Given the description of an element on the screen output the (x, y) to click on. 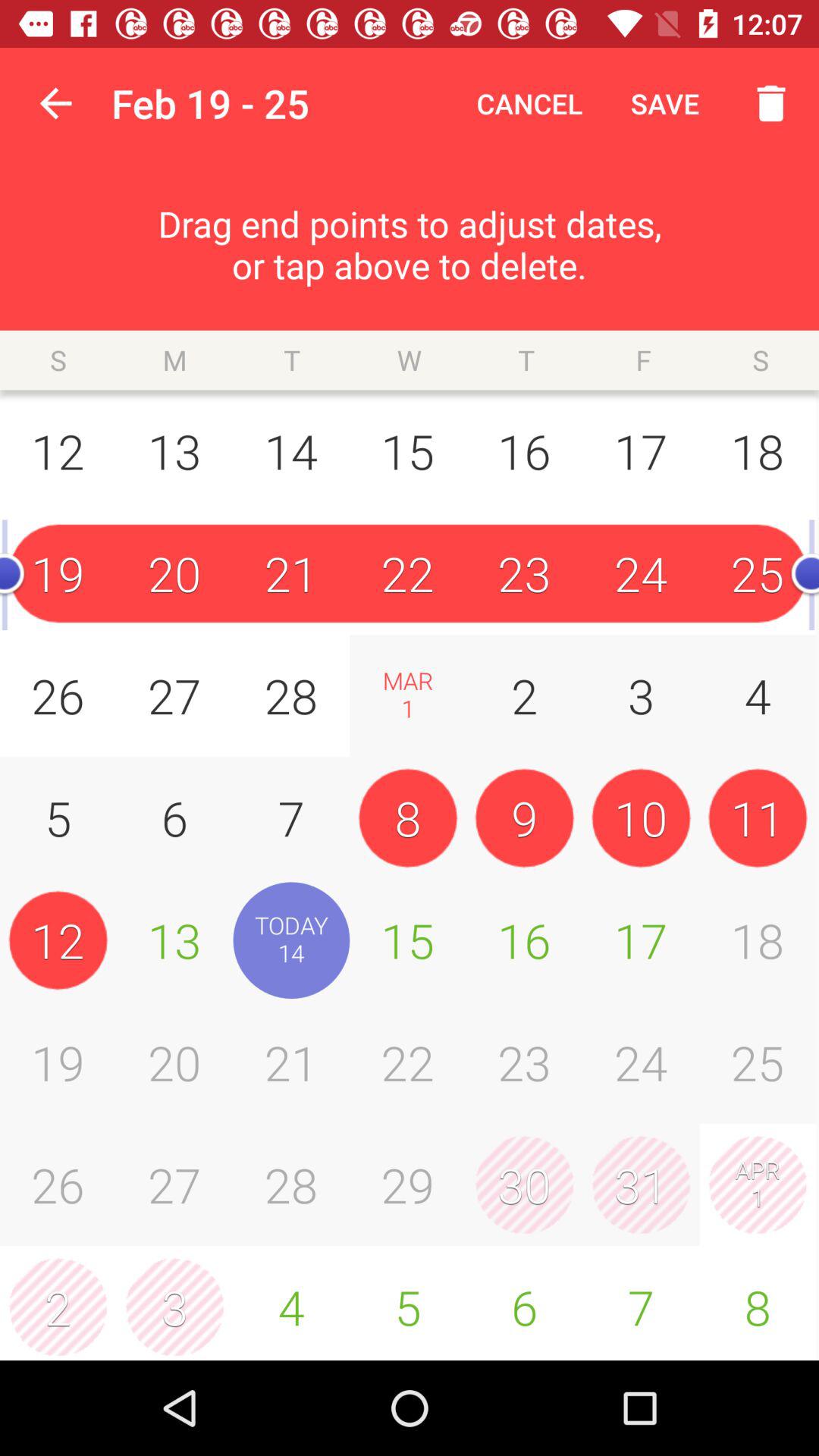
delete selected (763, 103)
